Given the description of an element on the screen output the (x, y) to click on. 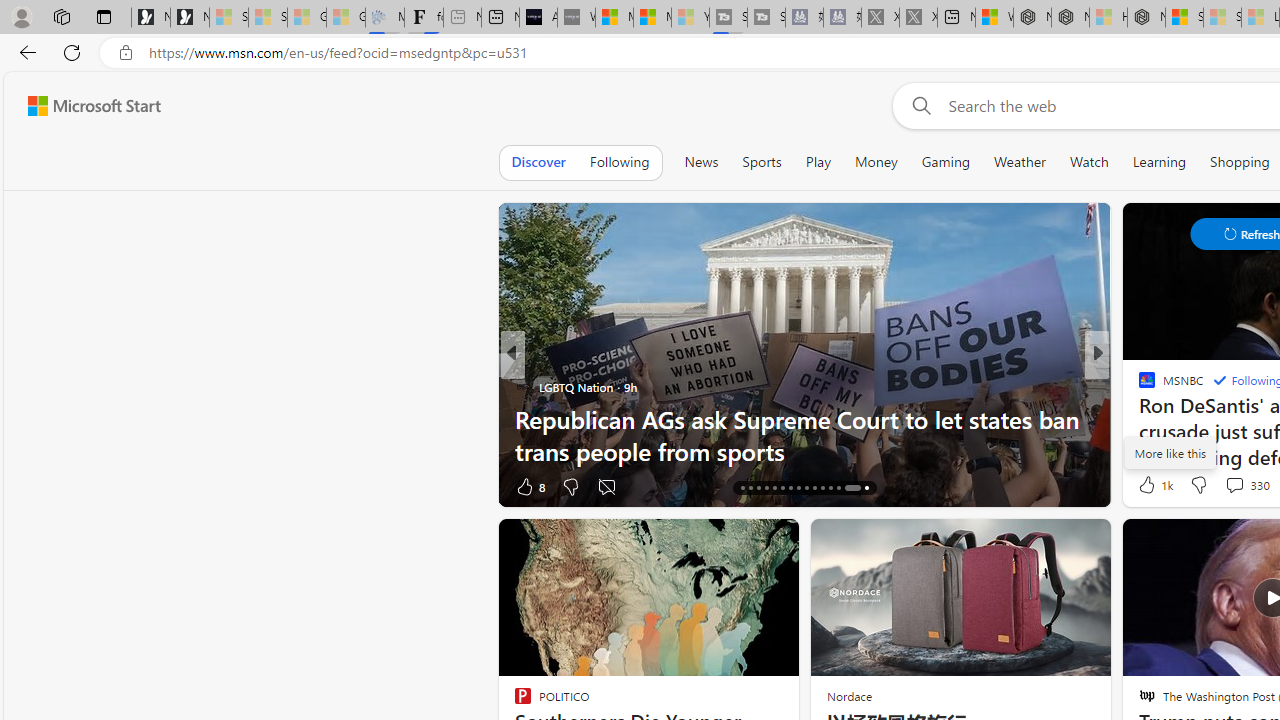
What's the best AI voice generator? - voice.ai - Sleeping (576, 17)
AutomationID: tab-26 (821, 487)
AutomationID: tab-23 (797, 487)
AutomationID: tab-29 (846, 487)
AutomationID: tab-25 (814, 487)
AutomationID: tab-20 (774, 487)
AutomationID: tab-21 (782, 487)
